Given the description of an element on the screen output the (x, y) to click on. 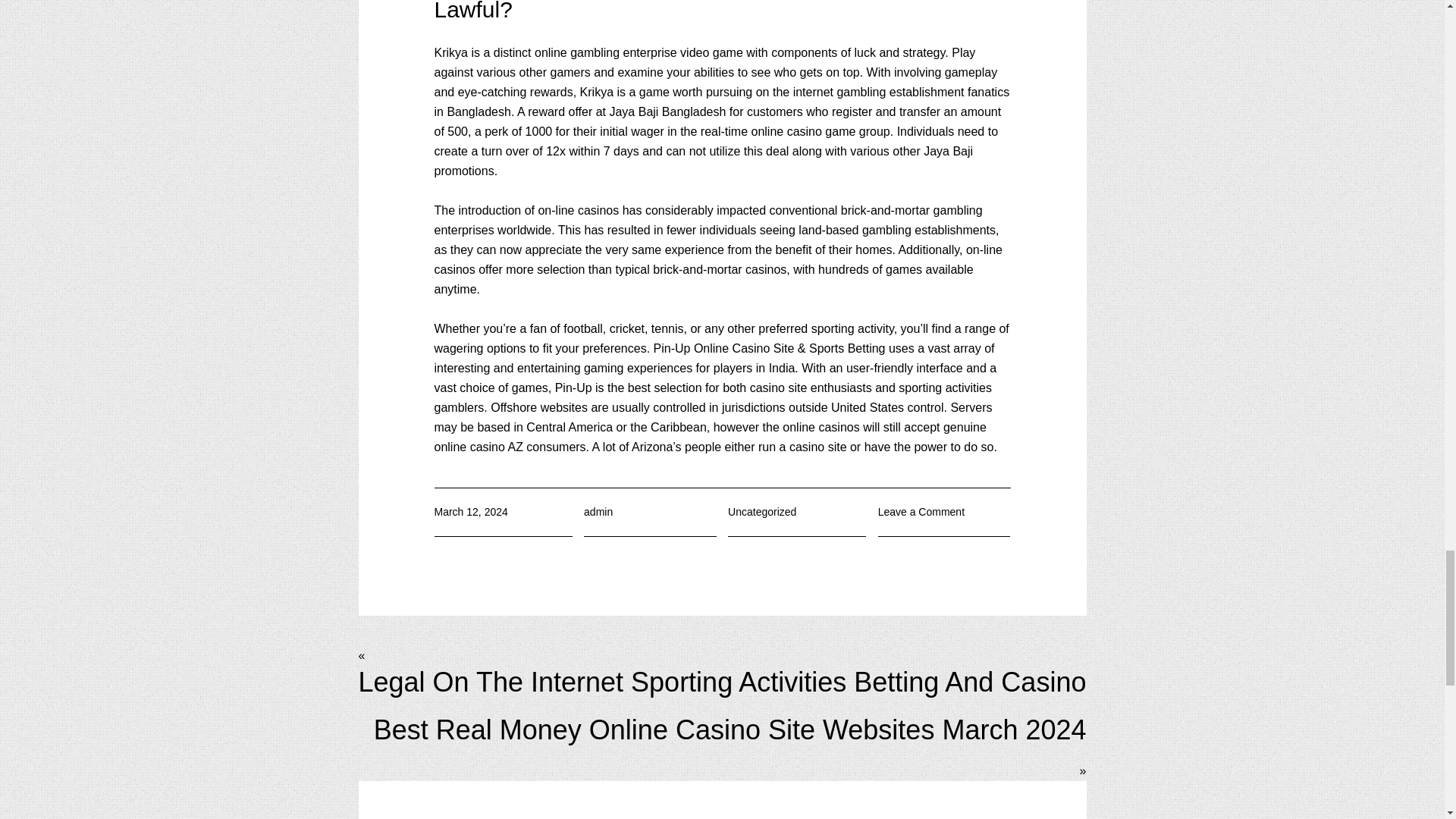
Uncategorized (762, 511)
admin (597, 511)
Leave a Comment (920, 511)
